Given the description of an element on the screen output the (x, y) to click on. 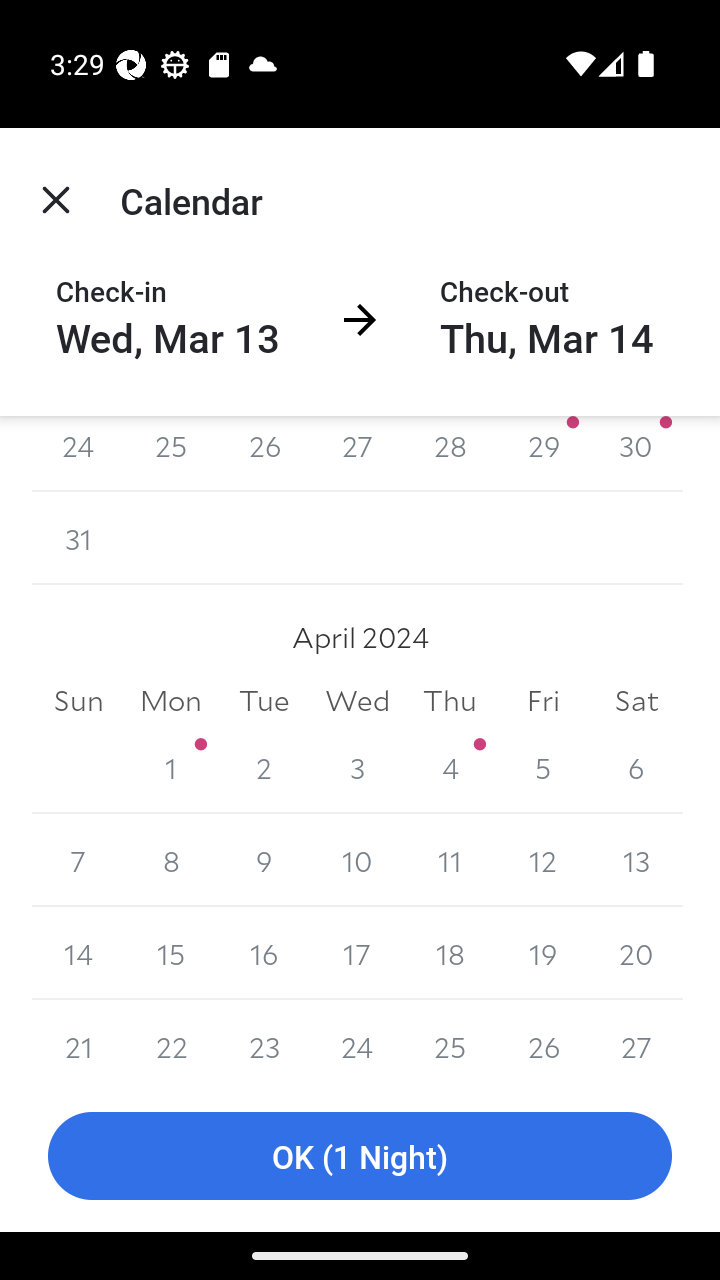
24 24 March 2024 (78, 453)
25 25 March 2024 (171, 453)
26 26 March 2024 (264, 453)
27 27 March 2024 (357, 453)
28 28 March 2024 (449, 453)
29 29 March 2024 (542, 453)
30 30 March 2024 (636, 453)
31 31 March 2024 (78, 537)
Sun (78, 699)
Mon (171, 699)
Tue (264, 699)
Wed (357, 699)
Thu (449, 699)
Fri (542, 699)
Sat (636, 699)
1 1 April 2024 (171, 767)
2 2 April 2024 (264, 767)
3 3 April 2024 (357, 767)
4 4 April 2024 (449, 767)
5 5 April 2024 (542, 767)
6 6 April 2024 (636, 767)
7 7 April 2024 (78, 860)
8 8 April 2024 (171, 860)
9 9 April 2024 (264, 860)
10 10 April 2024 (357, 860)
11 11 April 2024 (449, 860)
12 12 April 2024 (542, 860)
13 13 April 2024 (636, 860)
14 14 April 2024 (78, 953)
15 15 April 2024 (171, 953)
16 16 April 2024 (264, 953)
17 17 April 2024 (357, 953)
18 18 April 2024 (449, 953)
19 19 April 2024 (542, 953)
20 20 April 2024 (636, 953)
21 21 April 2024 (78, 1039)
22 22 April 2024 (171, 1039)
23 23 April 2024 (264, 1039)
24 24 April 2024 (357, 1039)
25 25 April 2024 (449, 1039)
26 26 April 2024 (542, 1039)
27 27 April 2024 (636, 1039)
OK (1 Night) (359, 1156)
